Given the description of an element on the screen output the (x, y) to click on. 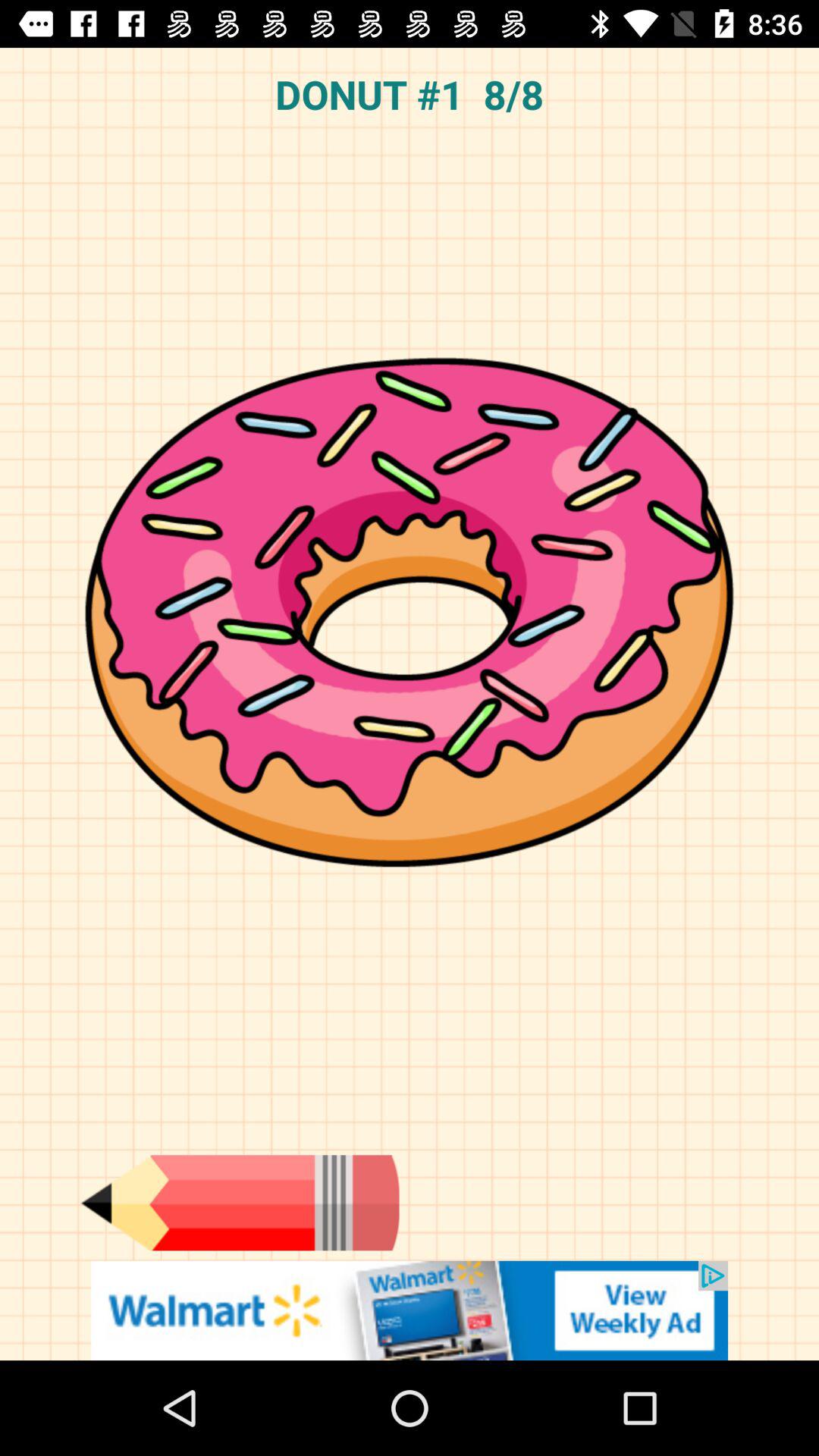
showing advertisements (409, 1310)
